Given the description of an element on the screen output the (x, y) to click on. 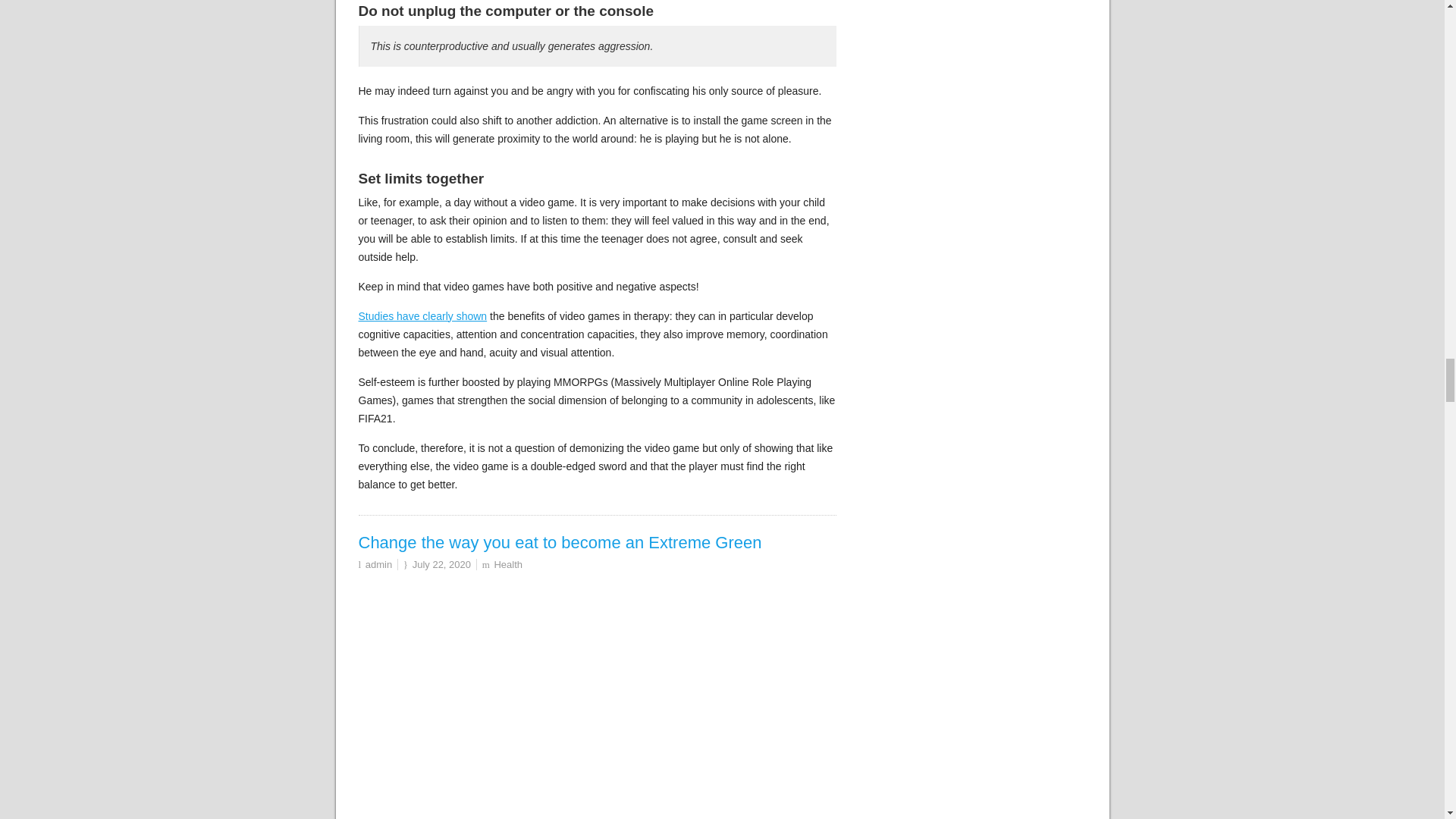
Posts by admin (378, 564)
Food waste is the world's dumbest problem (596, 696)
